Given the description of an element on the screen output the (x, y) to click on. 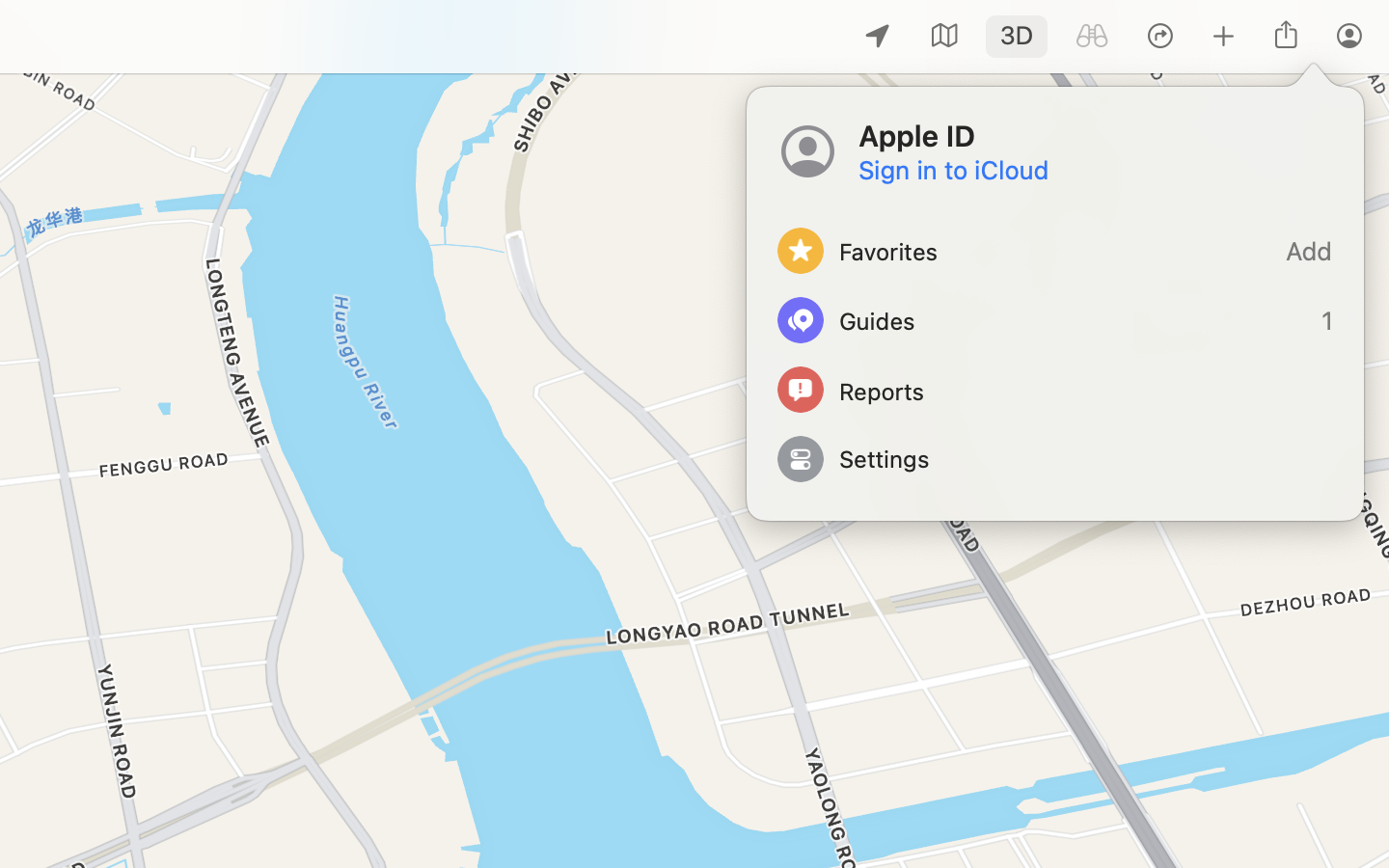
0 Element type: AXCheckBox (1091, 36)
1 Element type: AXButton (1054, 319)
Add Element type: AXButton (1054, 250)
1 Element type: AXCheckBox (1016, 36)
